Given the description of an element on the screen output the (x, y) to click on. 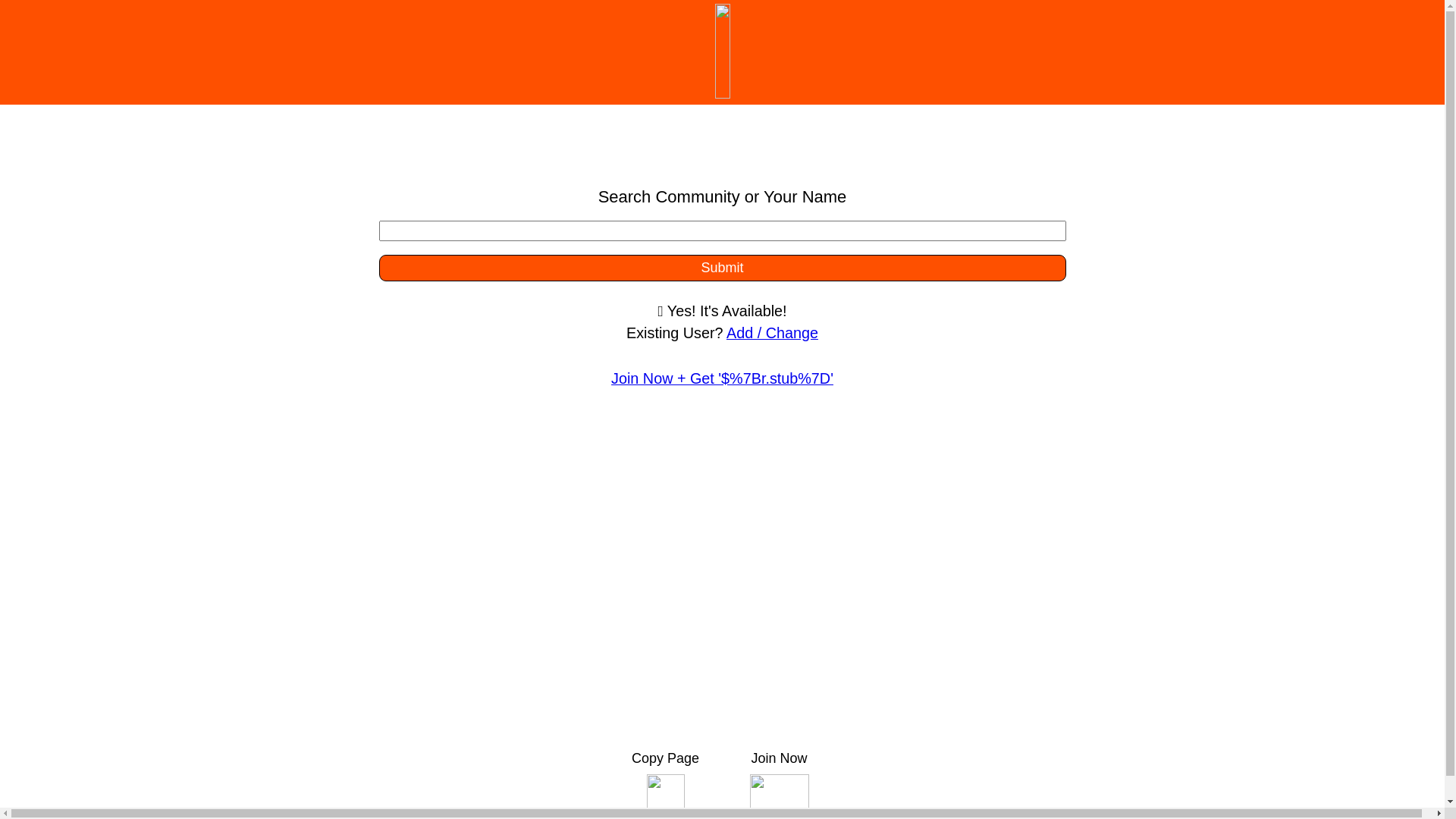
Add / Change Element type: text (772, 332)
Join Now Element type: text (778, 782)
Join Now + Get '$%7Br.stub%7D' Element type: text (722, 378)
Submit Element type: text (722, 267)
Copy Page Element type: text (664, 782)
